Given the description of an element on the screen output the (x, y) to click on. 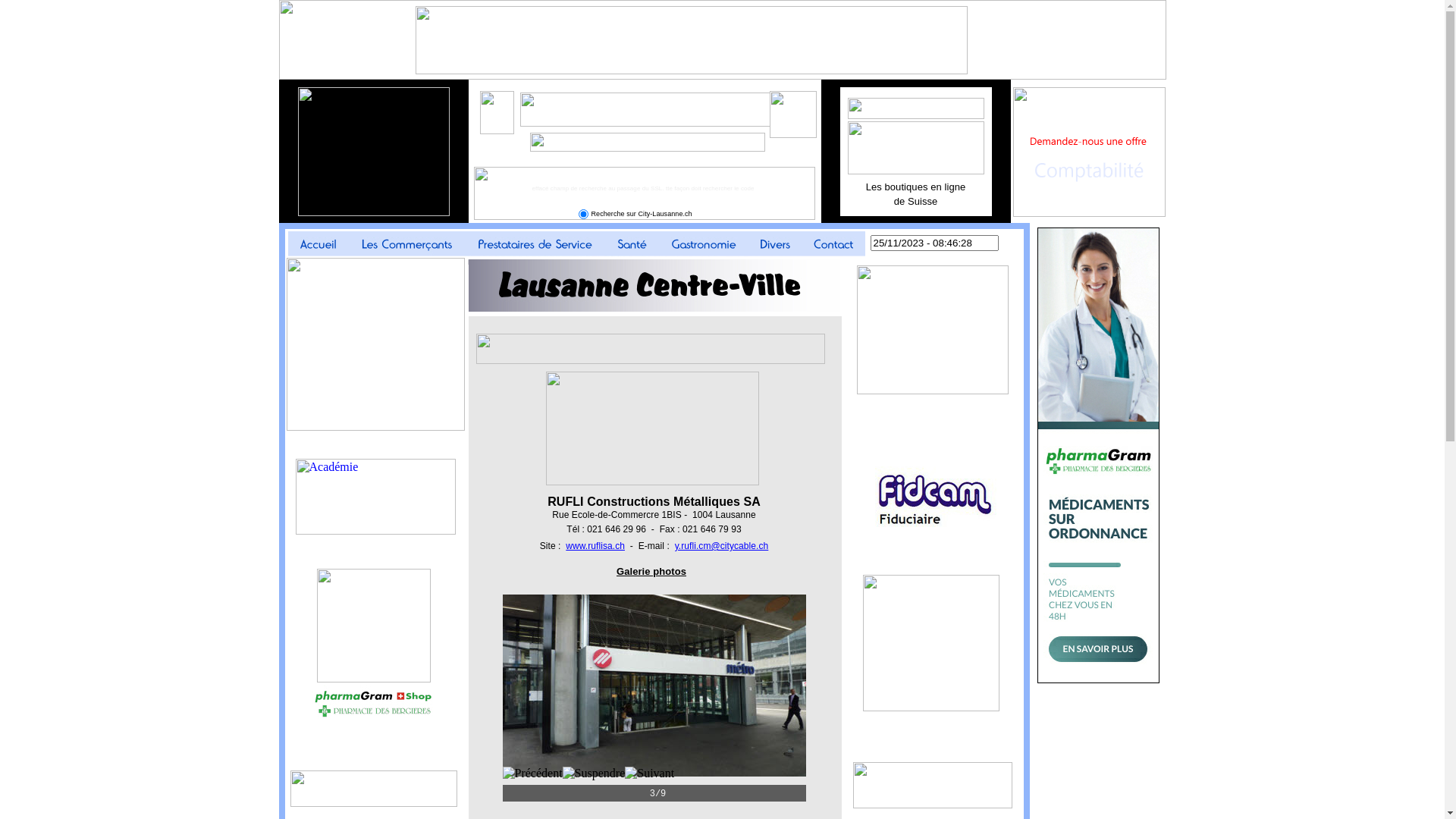
www.ruflisa.ch Element type: text (594, 545)
y.rufli.cm@citycable.ch Element type: text (721, 545)
Suspendre Element type: hover (593, 773)
Suivant Element type: hover (649, 773)
